Given the description of an element on the screen output the (x, y) to click on. 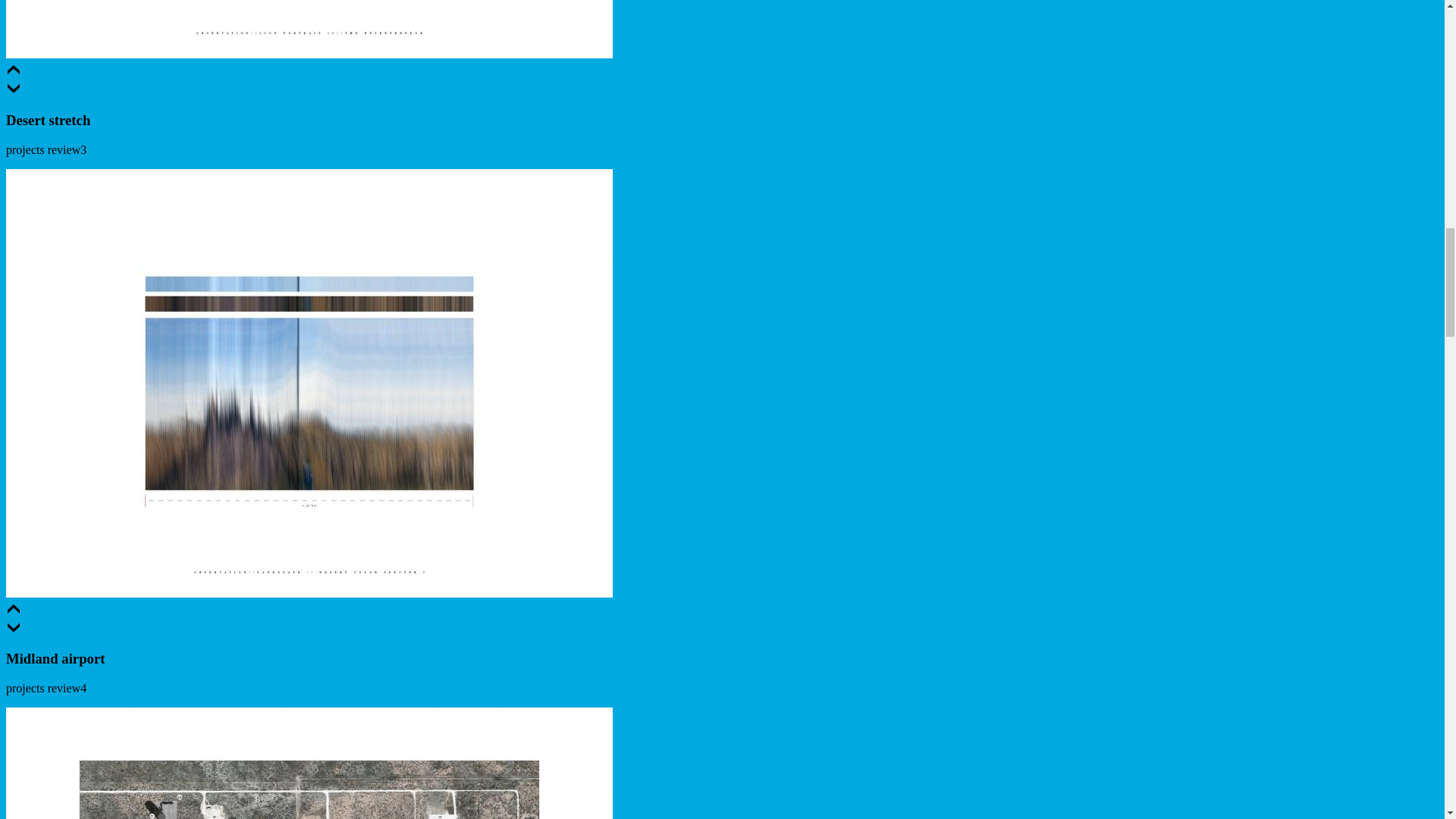
Previous Image (13, 72)
Previous Image (13, 611)
Next Image (13, 629)
Next Image (13, 90)
